Given the description of an element on the screen output the (x, y) to click on. 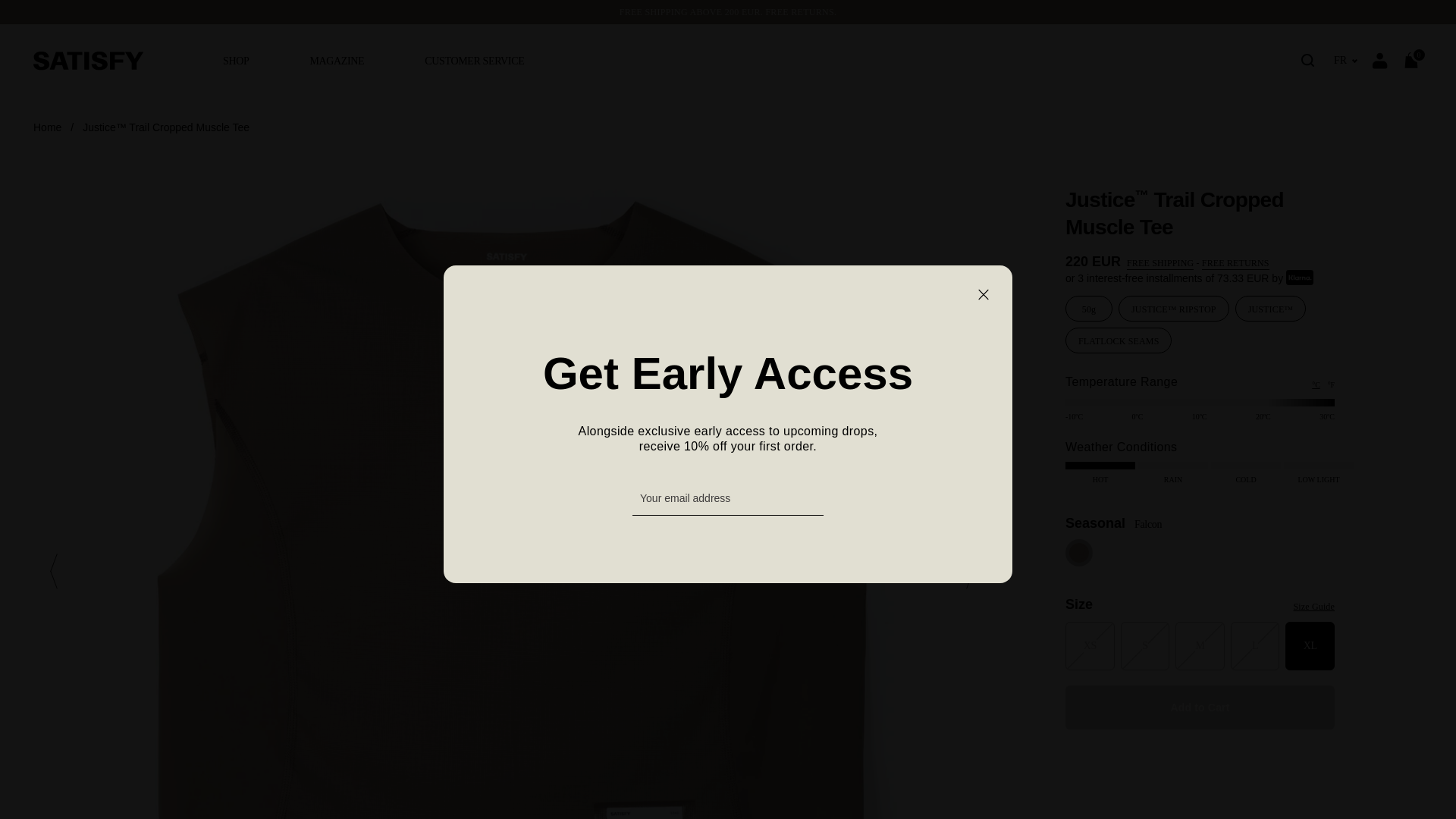
Product Weight (1088, 308)
CUSTOMER SERVICE (474, 60)
SHOP (235, 60)
MAGAZINE (336, 60)
5342-FA-SA (1200, 213)
